Given the description of an element on the screen output the (x, y) to click on. 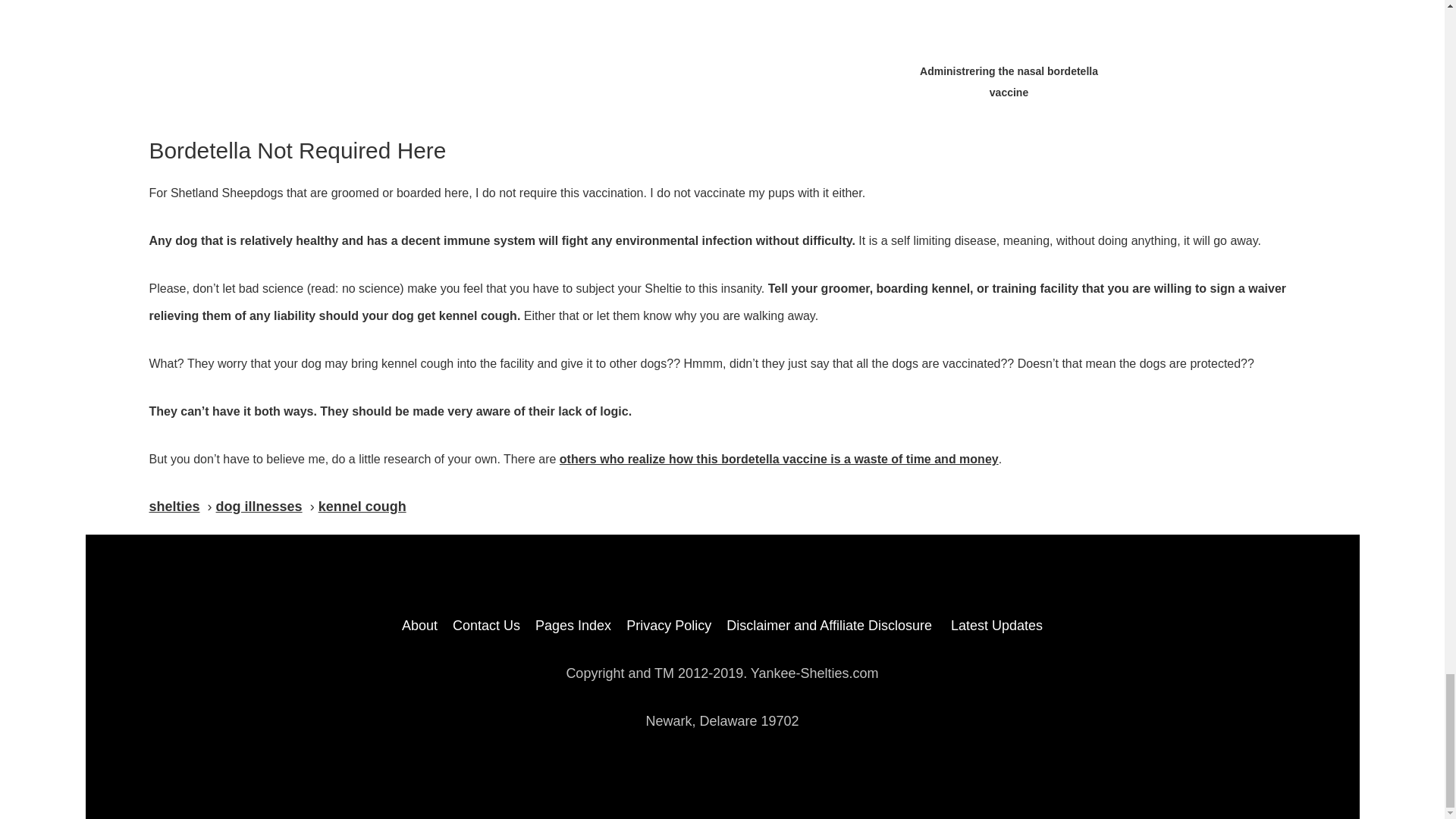
dog illnesses (258, 506)
administering the bordetella vaccine (1008, 25)
shelties (173, 506)
